Given the description of an element on the screen output the (x, y) to click on. 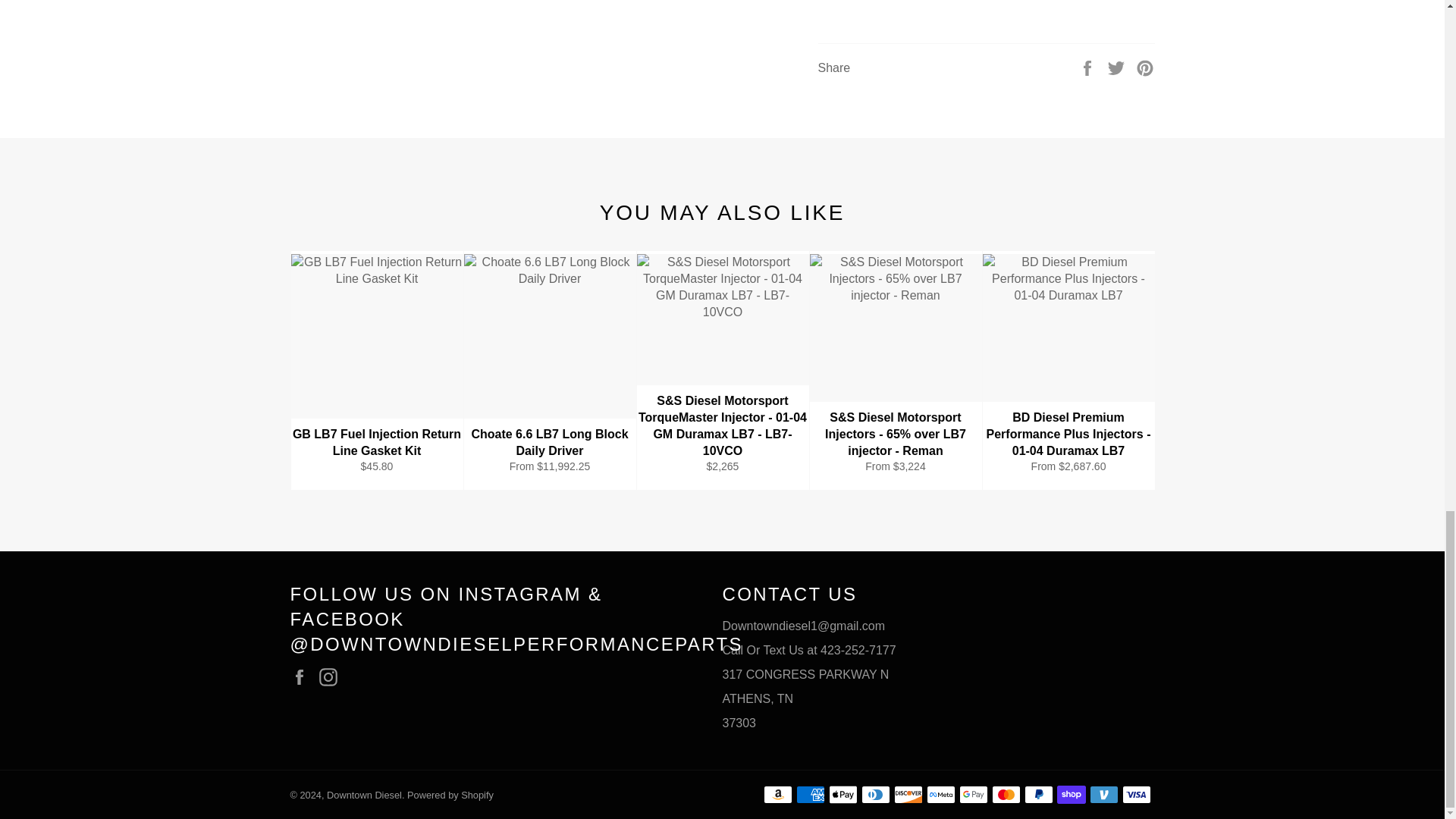
Downtown Diesel on Facebook (302, 677)
Share on Facebook (1088, 66)
Pin on Pinterest (1144, 66)
Pin on Pinterest (1144, 66)
Tweet on Twitter (1117, 66)
Tweet on Twitter (1117, 66)
Share on Facebook (1088, 66)
Downtown Diesel on Instagram (331, 677)
